Given the description of an element on the screen output the (x, y) to click on. 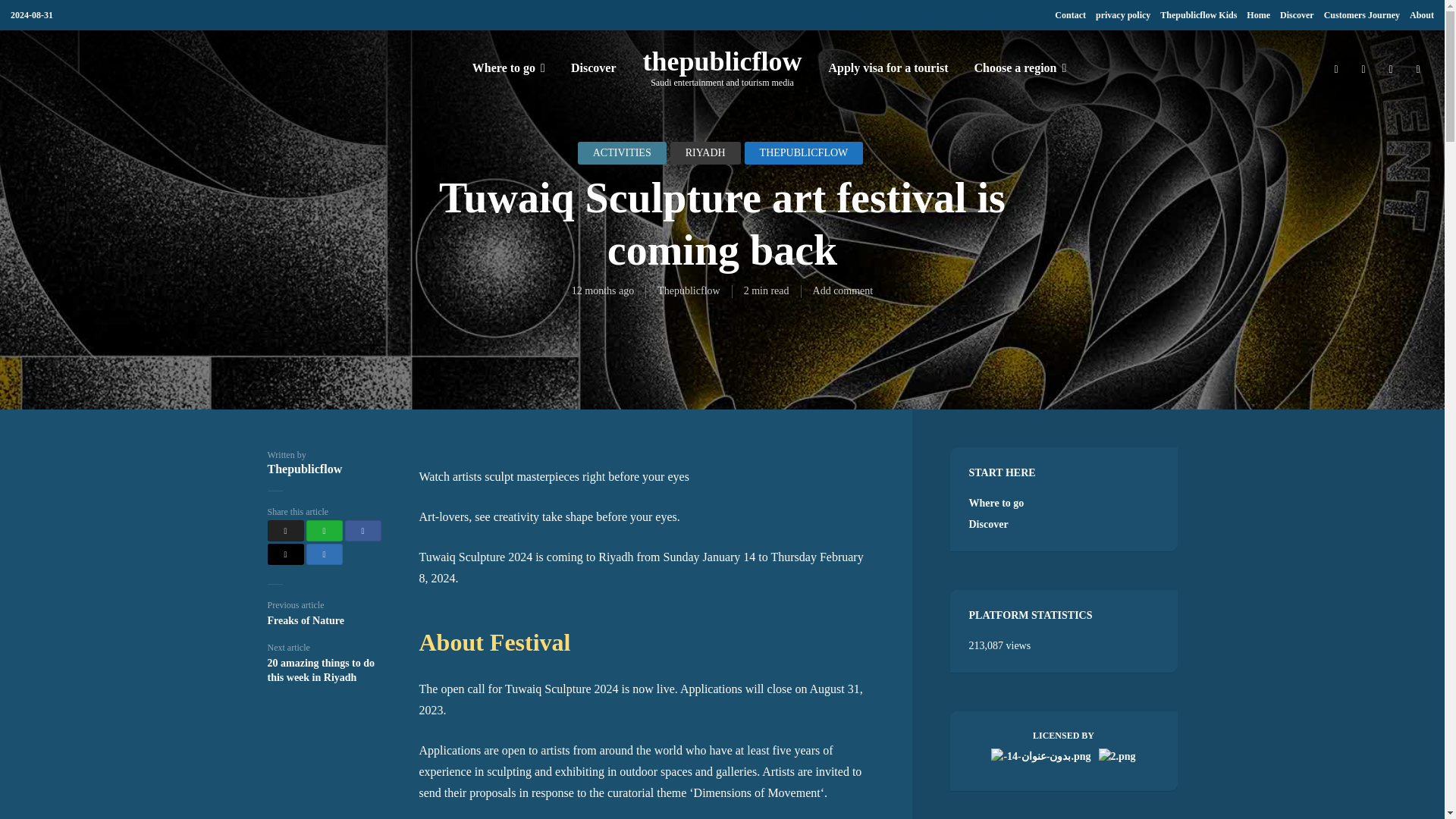
Thepublicflow Kids (1198, 15)
Add comment (842, 290)
Discover (1296, 15)
Contact (1070, 15)
About (1421, 15)
privacy policy (1123, 15)
Customers Journey (1361, 15)
Where to go (507, 67)
Home (1257, 15)
